Given the description of an element on the screen output the (x, y) to click on. 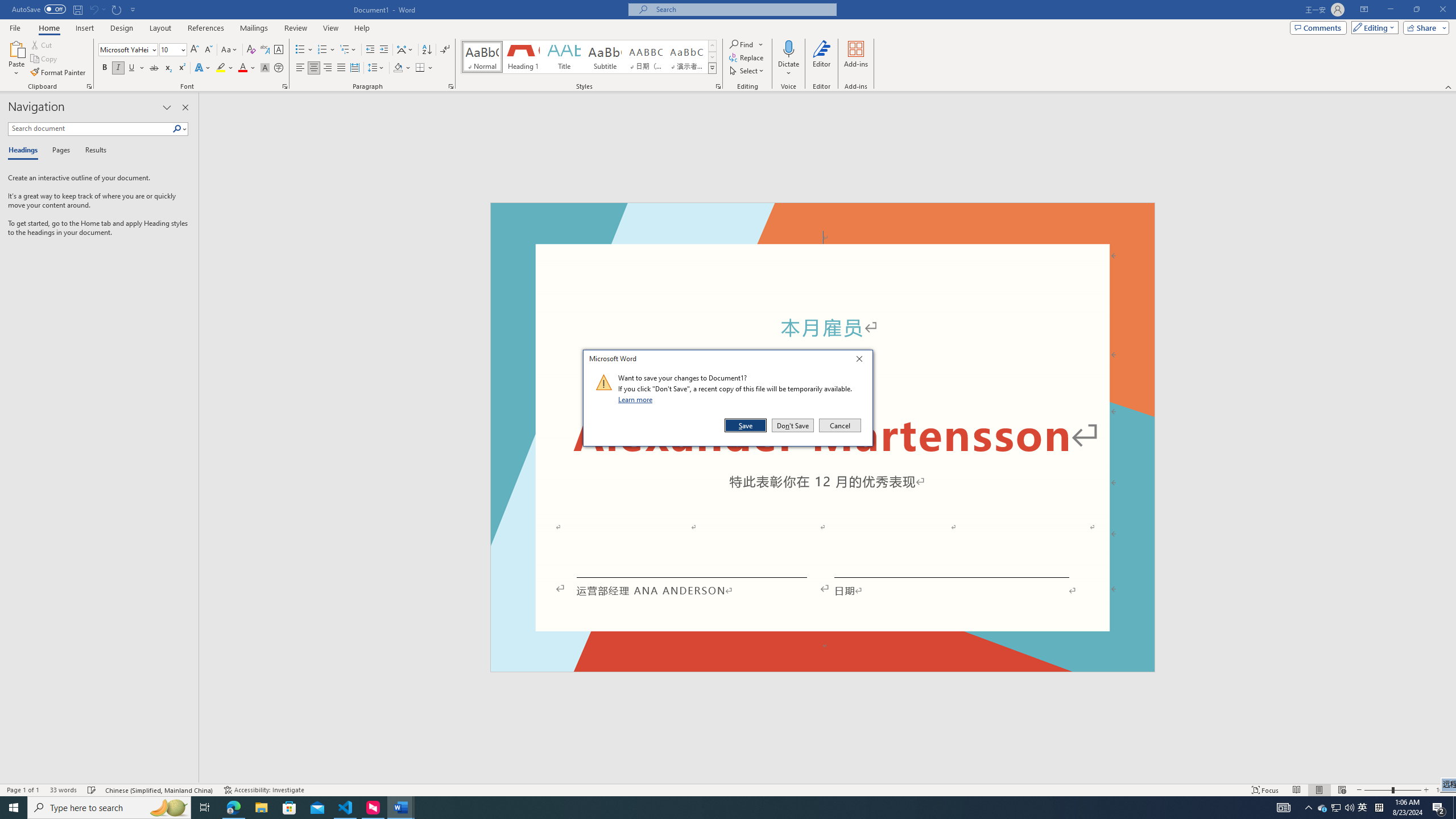
Change Case (229, 49)
Align Left (300, 67)
Distributed (354, 67)
Title (564, 56)
Can't Undo (92, 9)
